Given the description of an element on the screen output the (x, y) to click on. 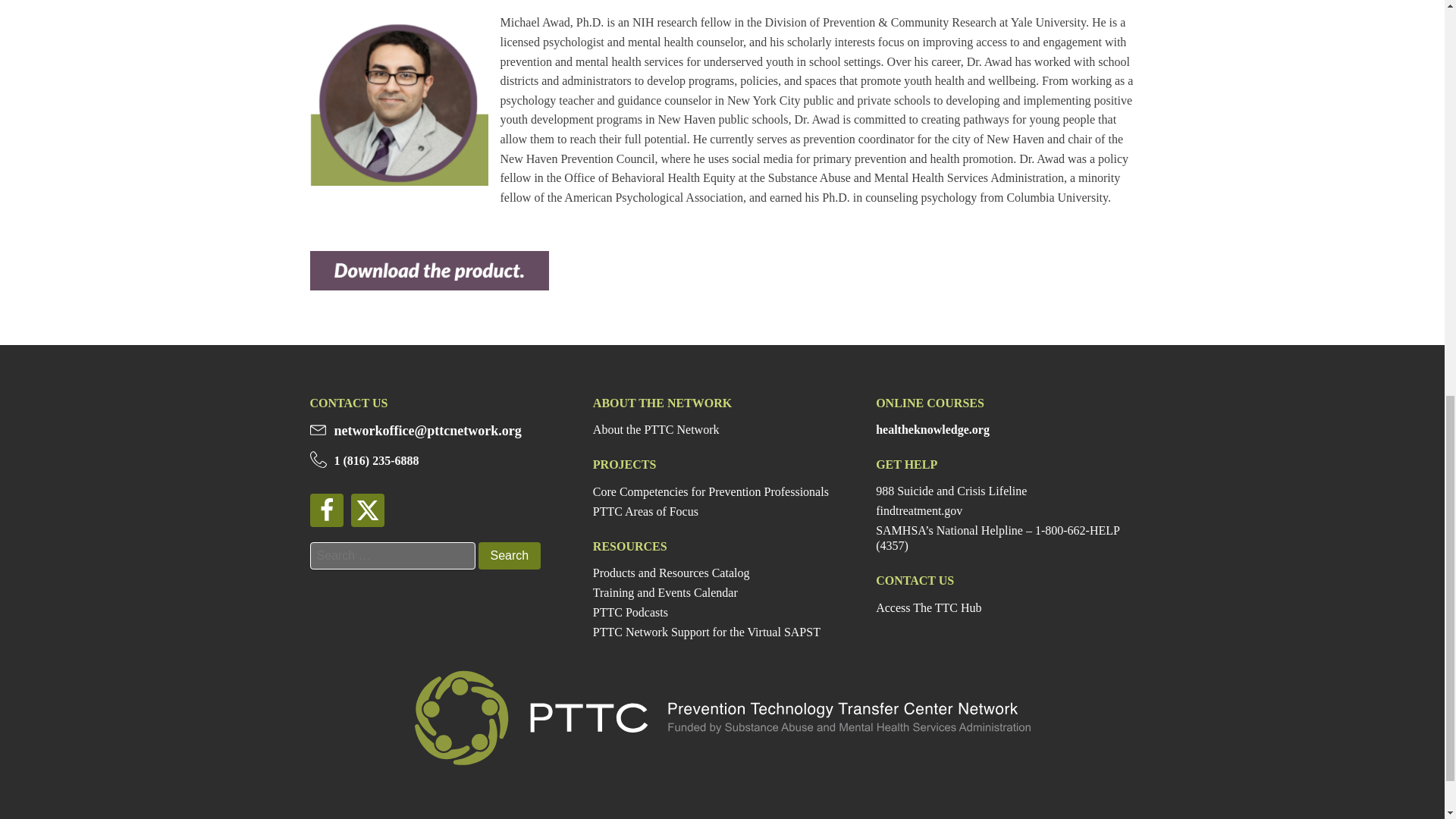
Search (508, 555)
Search (508, 555)
